Given the description of an element on the screen output the (x, y) to click on. 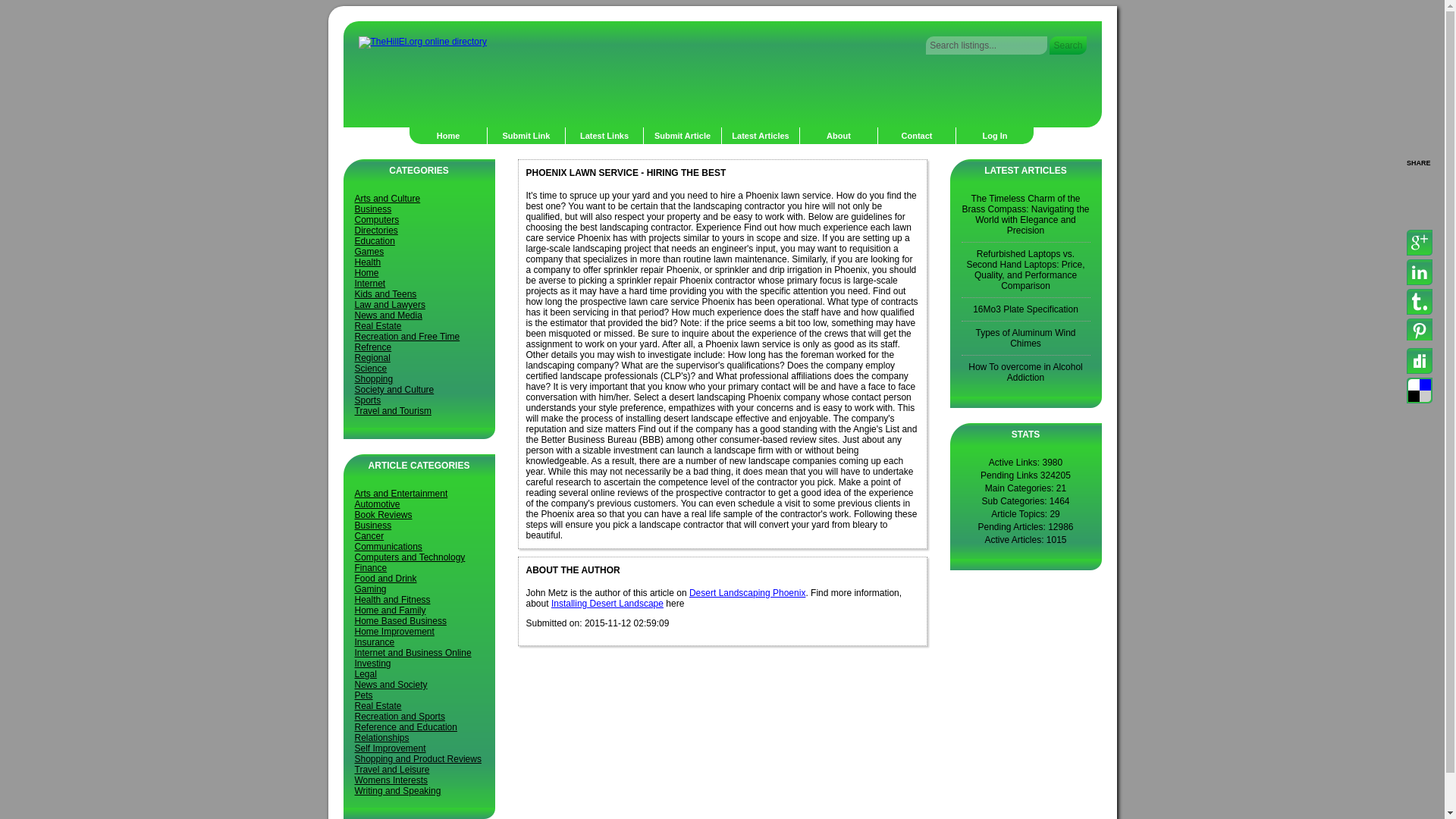
Regional (372, 357)
Health (368, 262)
About (838, 135)
Sports (368, 399)
Arts and Culture (387, 198)
Search (1067, 45)
Travel and Tourism (392, 410)
Refrence (373, 347)
Real Estate (378, 326)
Society and Culture (394, 389)
Submit Link (526, 135)
Directories (376, 230)
Internet (370, 283)
Recreation and Free Time (407, 336)
Games (369, 251)
